Given the description of an element on the screen output the (x, y) to click on. 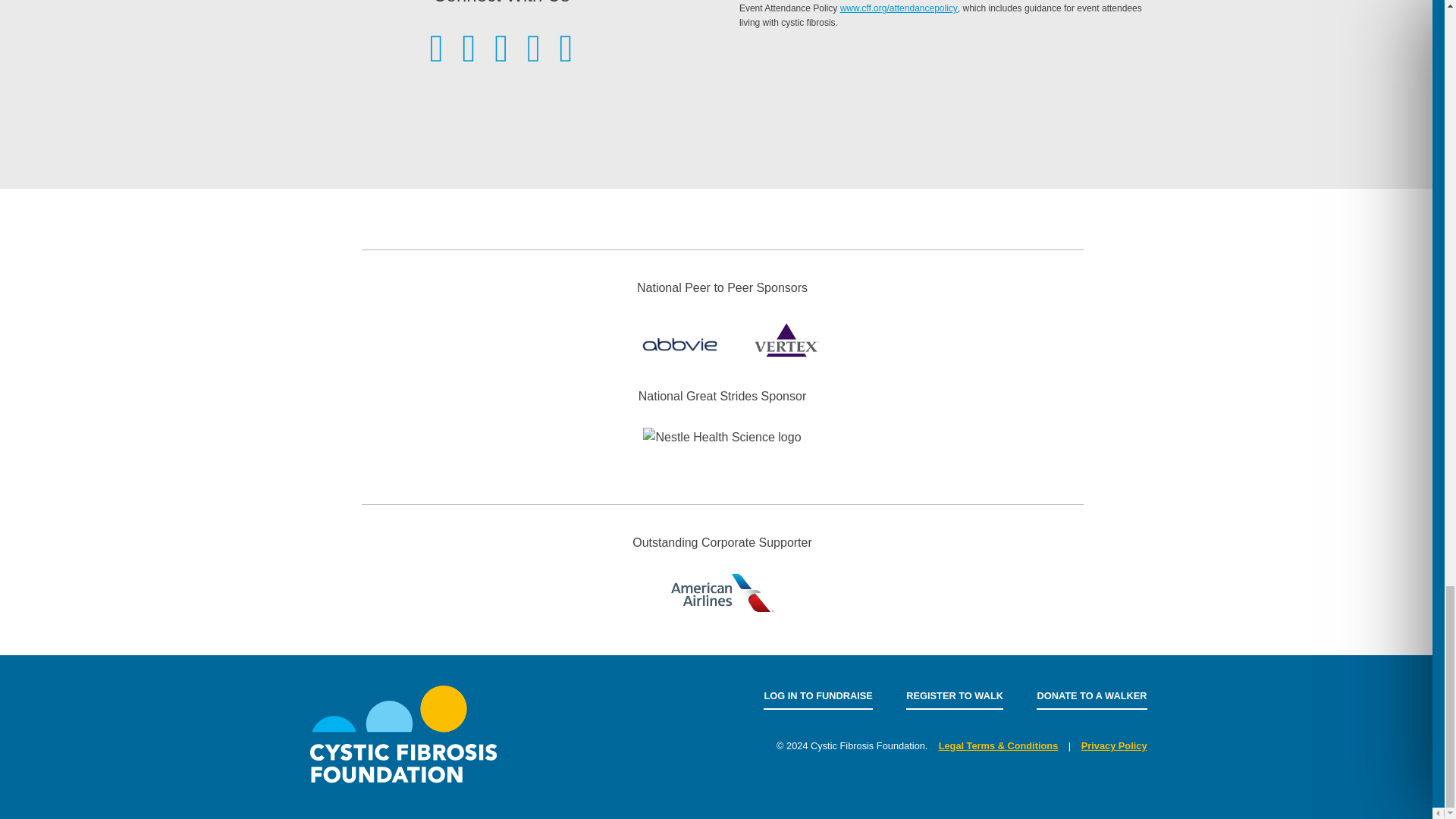
REGISTER TO WALK (954, 695)
DONATE TO A WALKER (1091, 695)
LOG IN TO FUNDRAISE (817, 695)
Privacy Policy (1114, 745)
Follow link (899, 8)
